Given the description of an element on the screen output the (x, y) to click on. 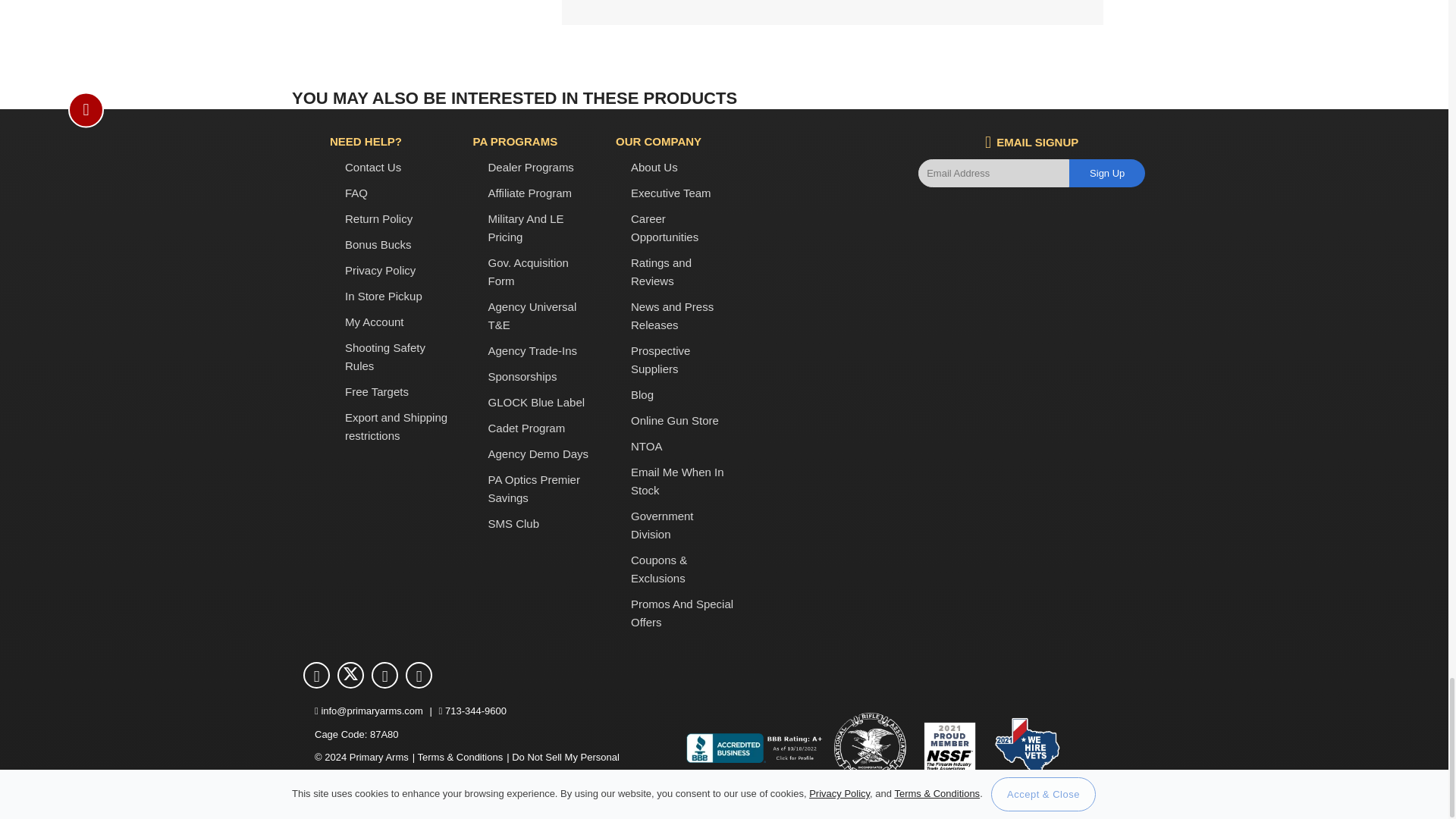
Sign Up (1106, 172)
